Given the description of an element on the screen output the (x, y) to click on. 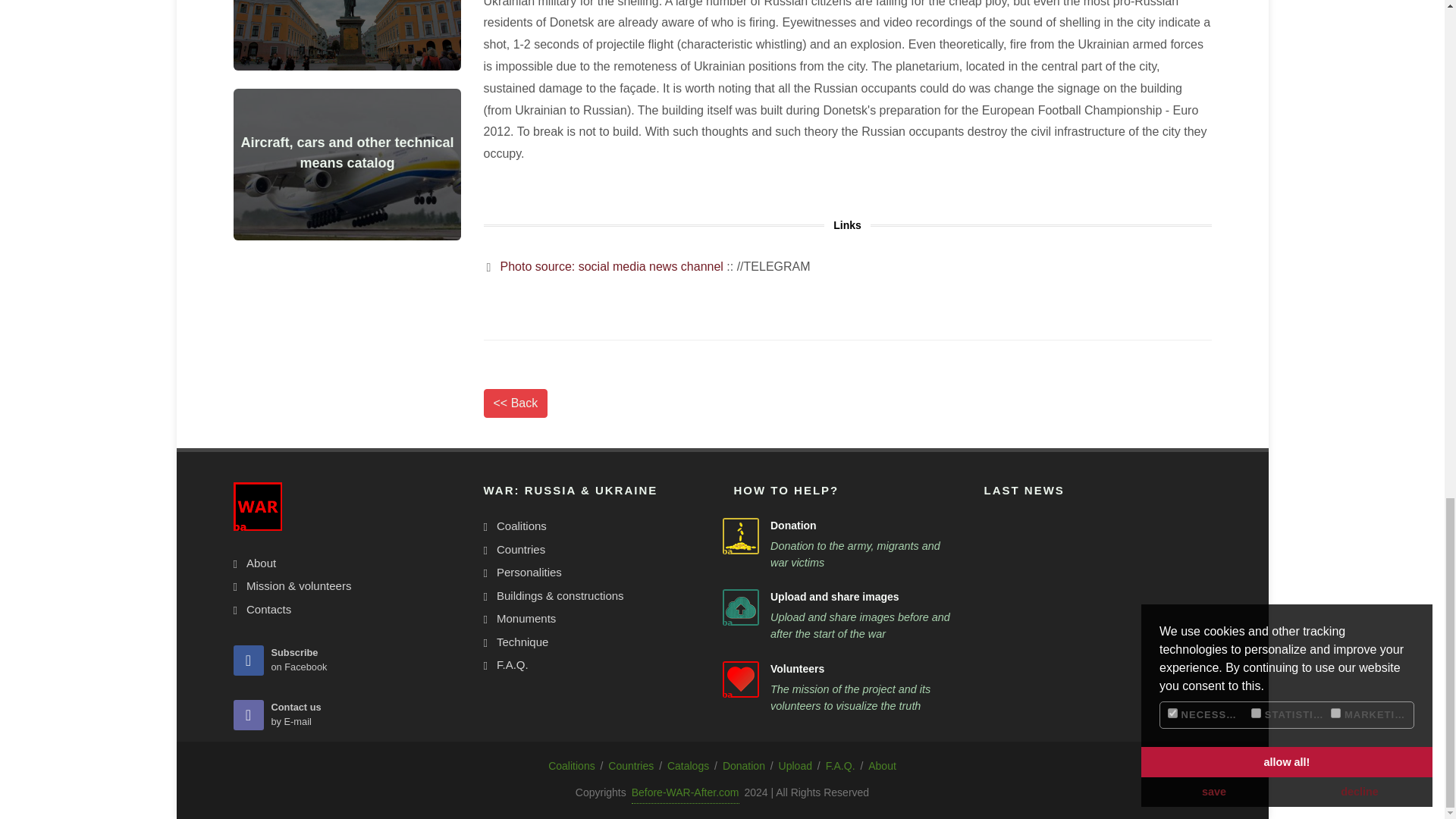
View Details (351, 149)
